Given the description of an element on the screen output the (x, y) to click on. 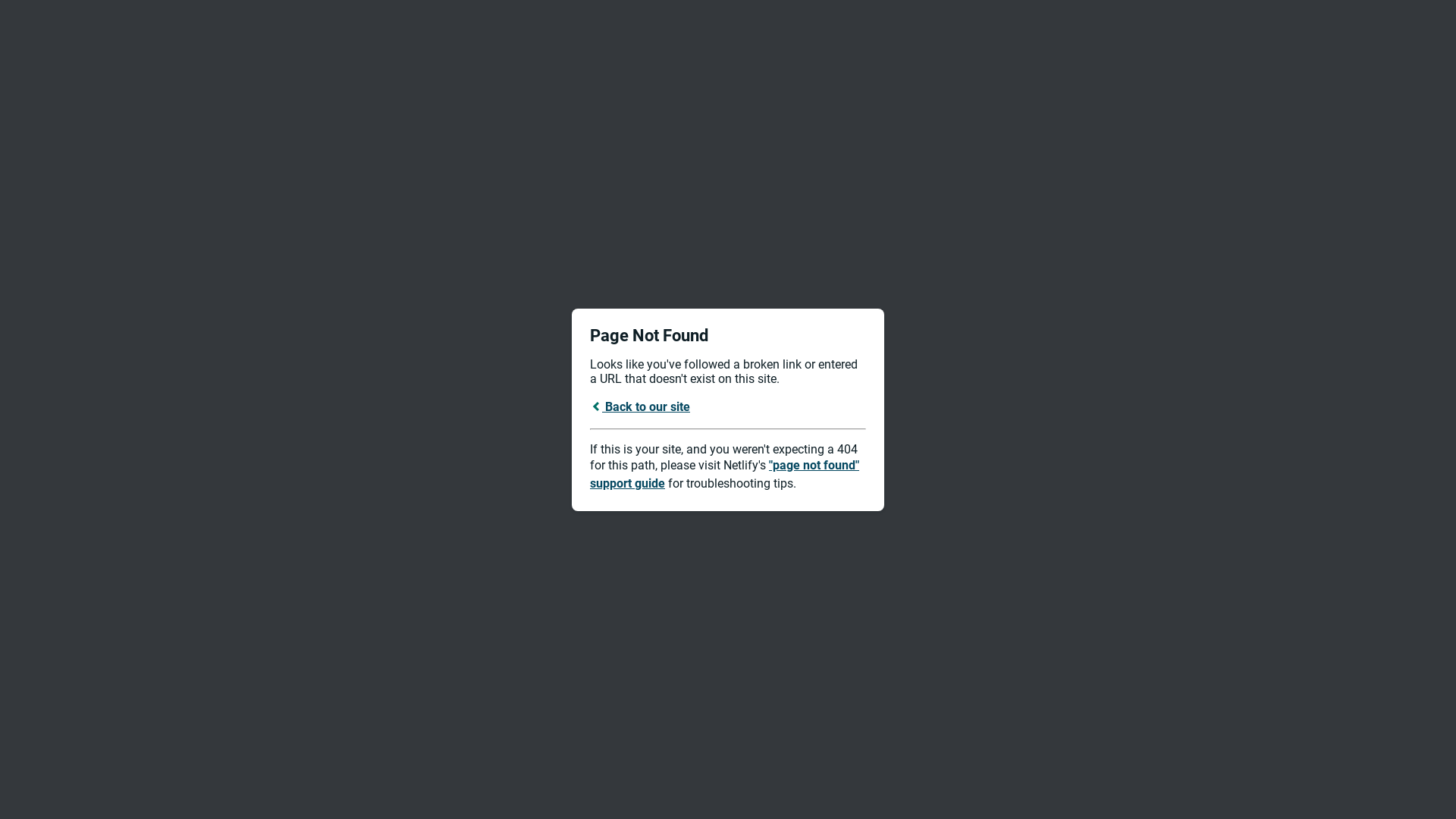
"page not found" support guide Element type: text (724, 474)
Back to our site Element type: text (639, 405)
